Given the description of an element on the screen output the (x, y) to click on. 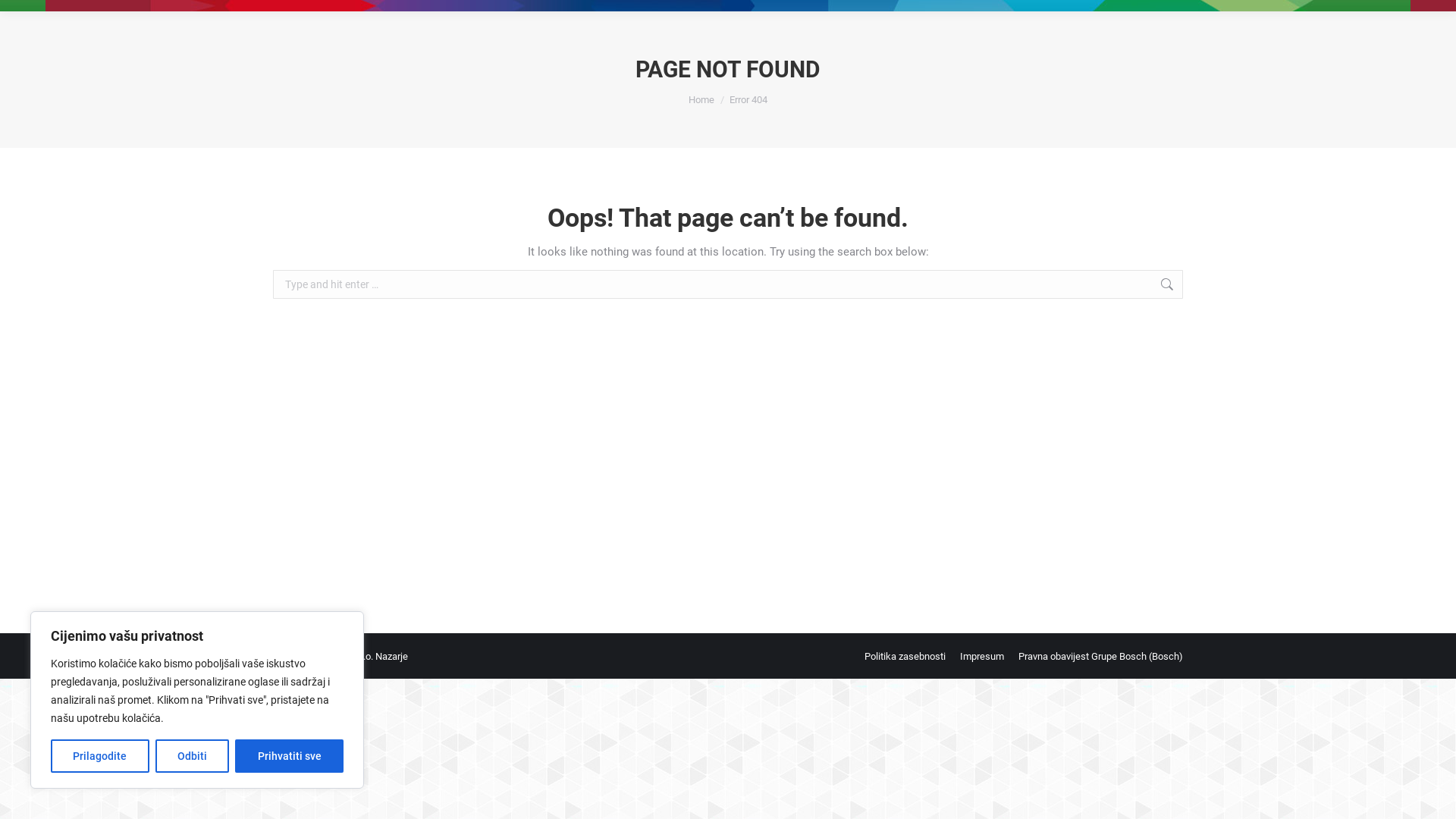
Prihvatiti sve Element type: text (289, 755)
Politika zasebnosti Element type: text (904, 656)
Odbiti Element type: text (192, 755)
Home Element type: text (701, 99)
Impresum Element type: text (982, 656)
Prilagodite Element type: text (99, 755)
Go! Element type: text (1206, 286)
Pravna obavijest Grupe Bosch (Bosch) Element type: text (1100, 656)
